Given the description of an element on the screen output the (x, y) to click on. 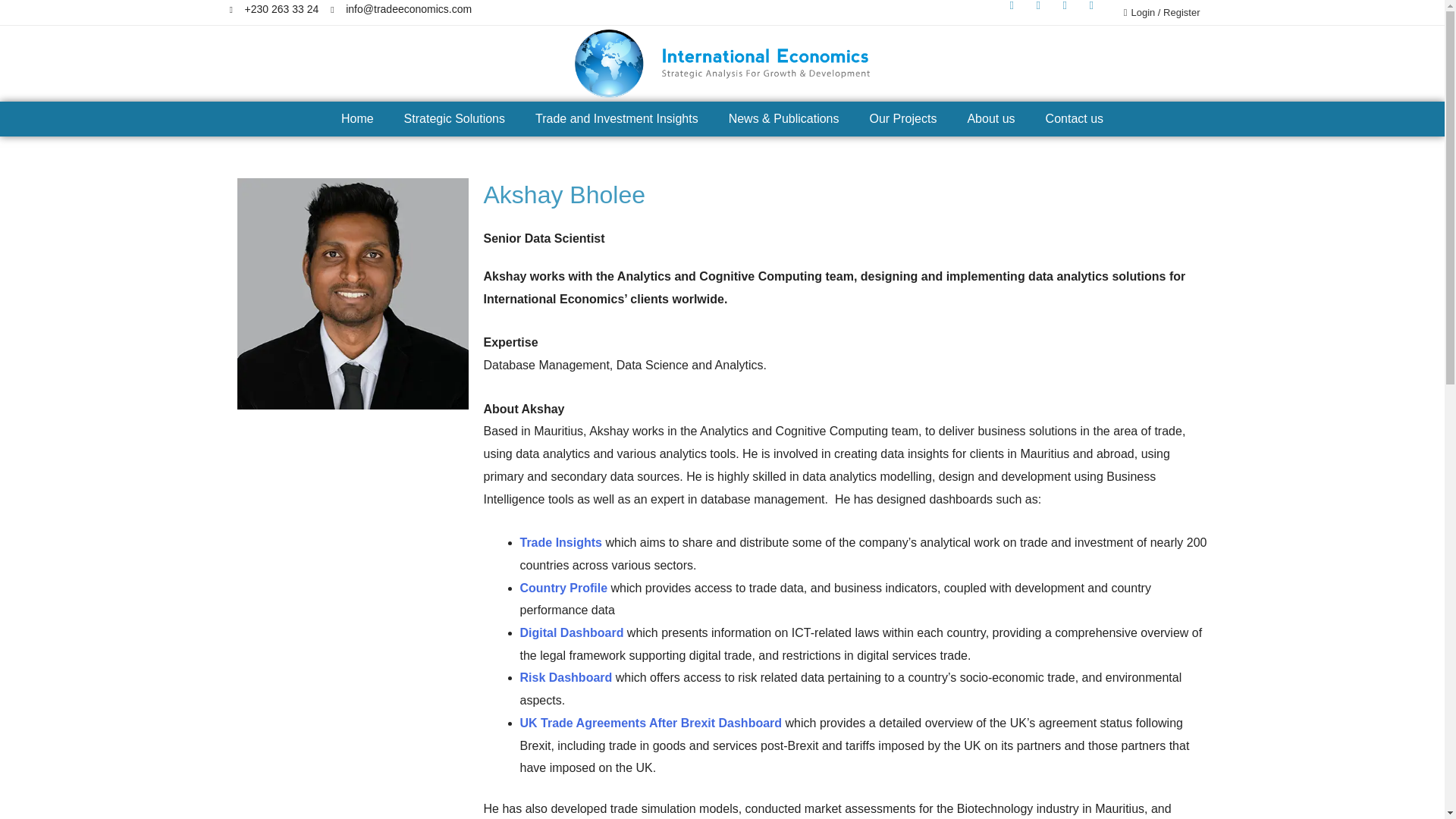
Linkedin (1017, 11)
Facebook (1043, 11)
Trade and Investment Insights (616, 118)
Strategic Solutions (453, 118)
Youtube (1097, 11)
About us (990, 118)
X-twitter (1070, 11)
Contact us (1074, 118)
Our Projects (902, 118)
Home (357, 118)
